Given the description of an element on the screen output the (x, y) to click on. 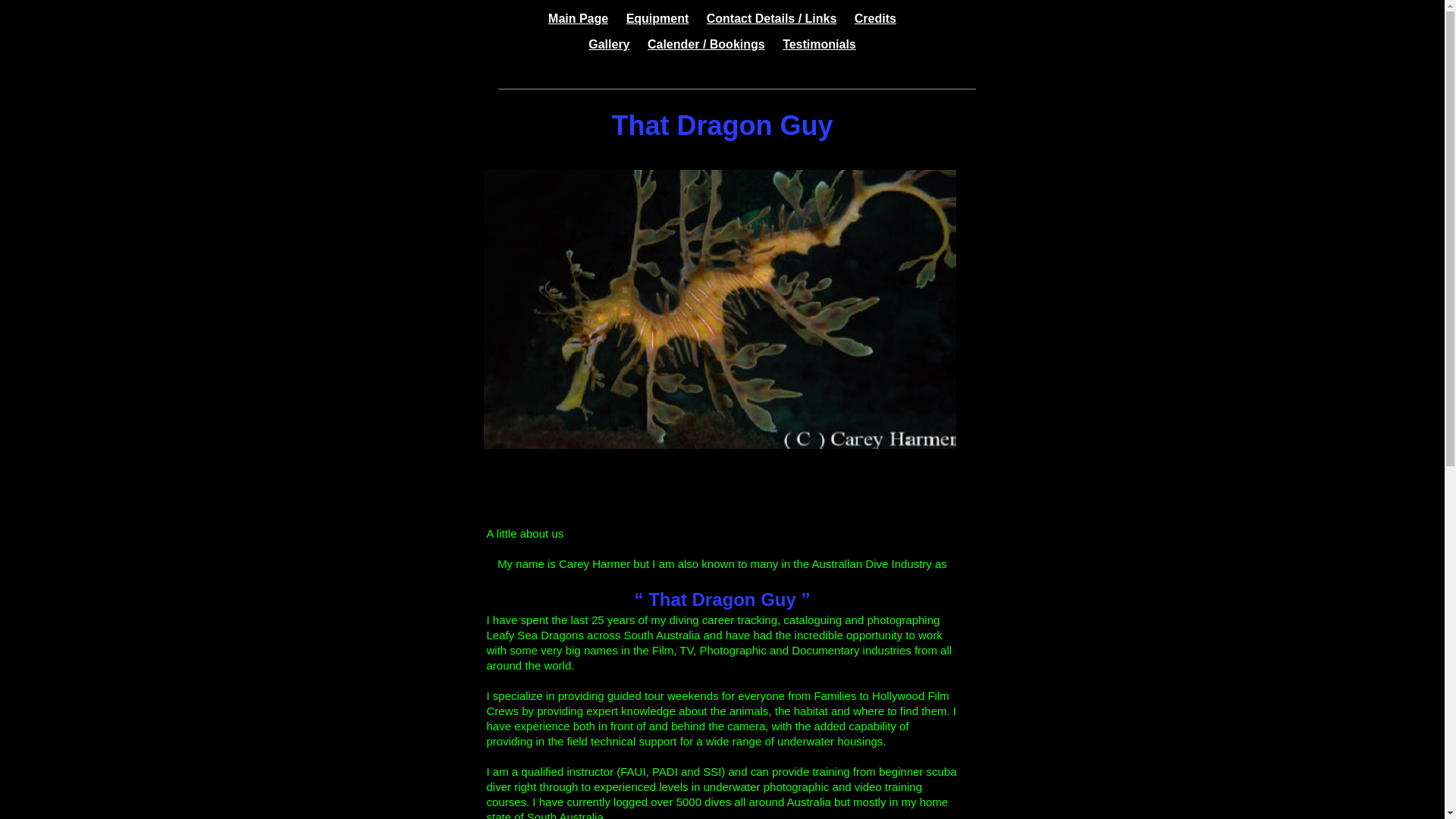
Main Page Element type: text (585, 18)
Testimonials Element type: text (819, 43)
Contact Details / Links Element type: text (771, 18)
Gallery Element type: text (608, 43)
Equipment Element type: text (657, 18)
Credits Element type: text (875, 18)
Calender / Bookings Element type: text (706, 43)
